Given the description of an element on the screen output the (x, y) to click on. 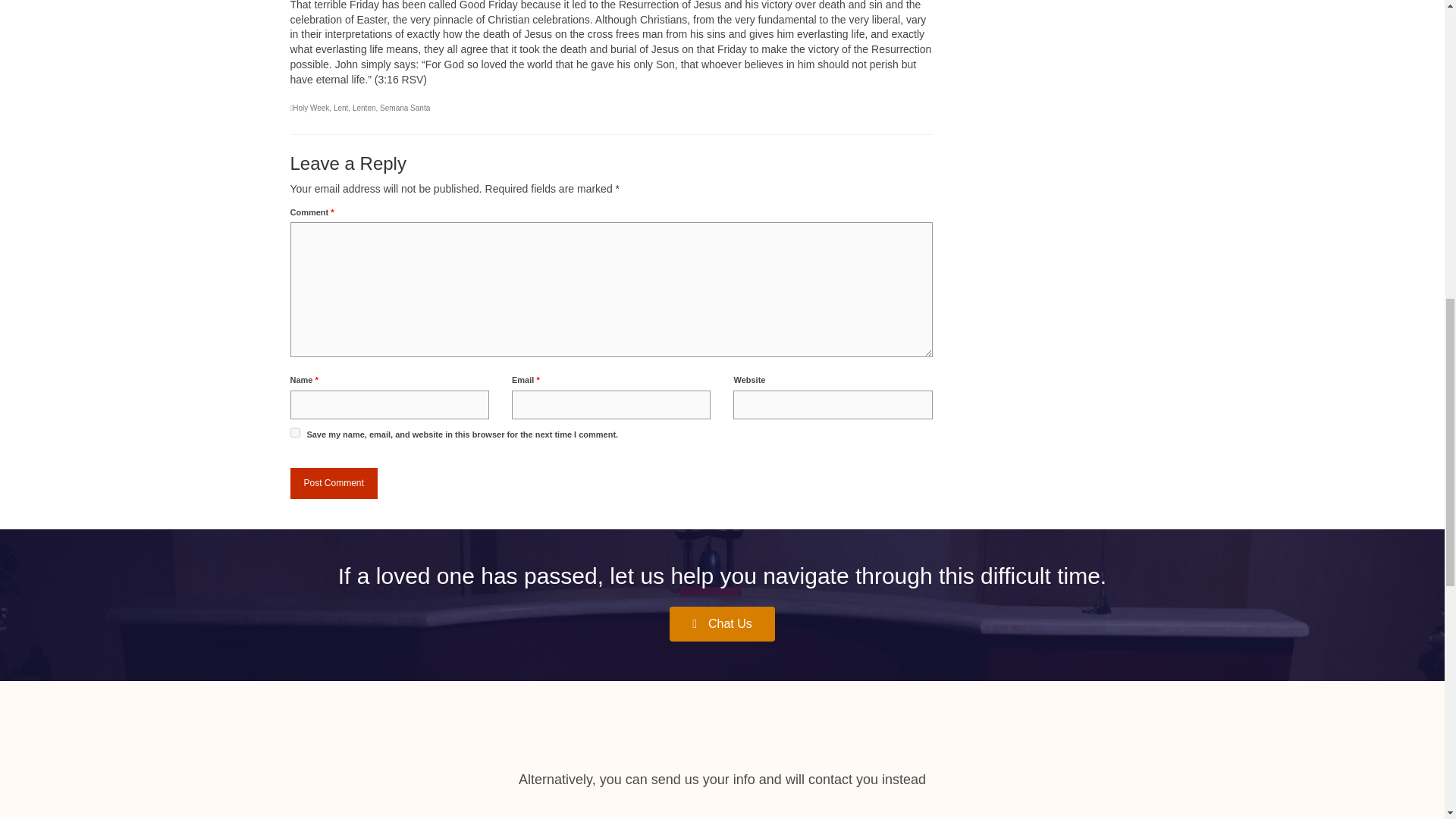
Semana Santa (404, 108)
Post Comment (333, 482)
yes (294, 432)
Holy Week (310, 108)
Lenten (363, 108)
Post Comment (333, 482)
Chat Us (721, 623)
Lent (340, 108)
